Given the description of an element on the screen output the (x, y) to click on. 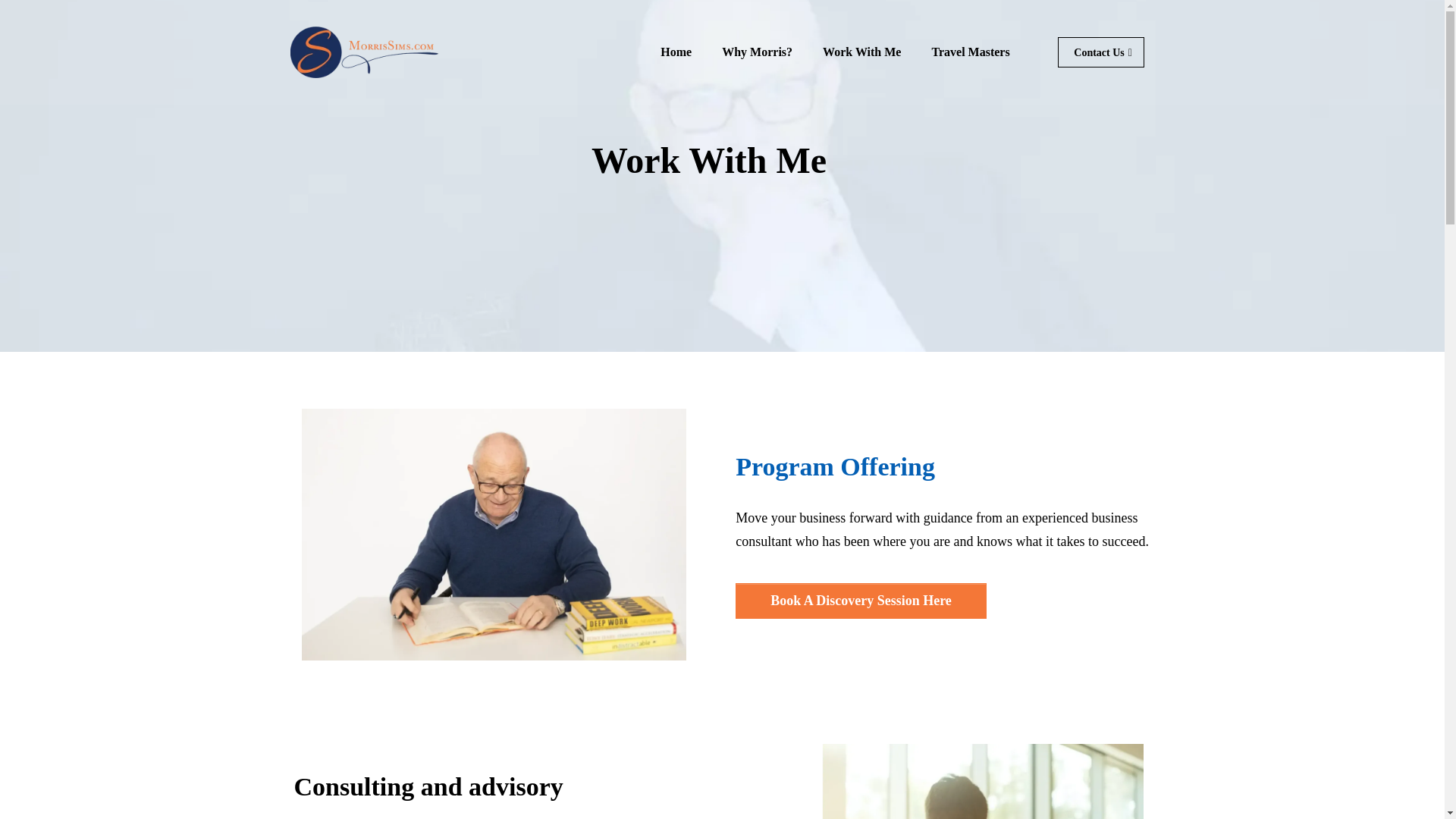
Why Morris? (757, 51)
Contact Us (1101, 51)
Work With Me (861, 51)
Home (675, 51)
Travel Masters (970, 51)
Book A Discovery Session Here (861, 601)
